Given the description of an element on the screen output the (x, y) to click on. 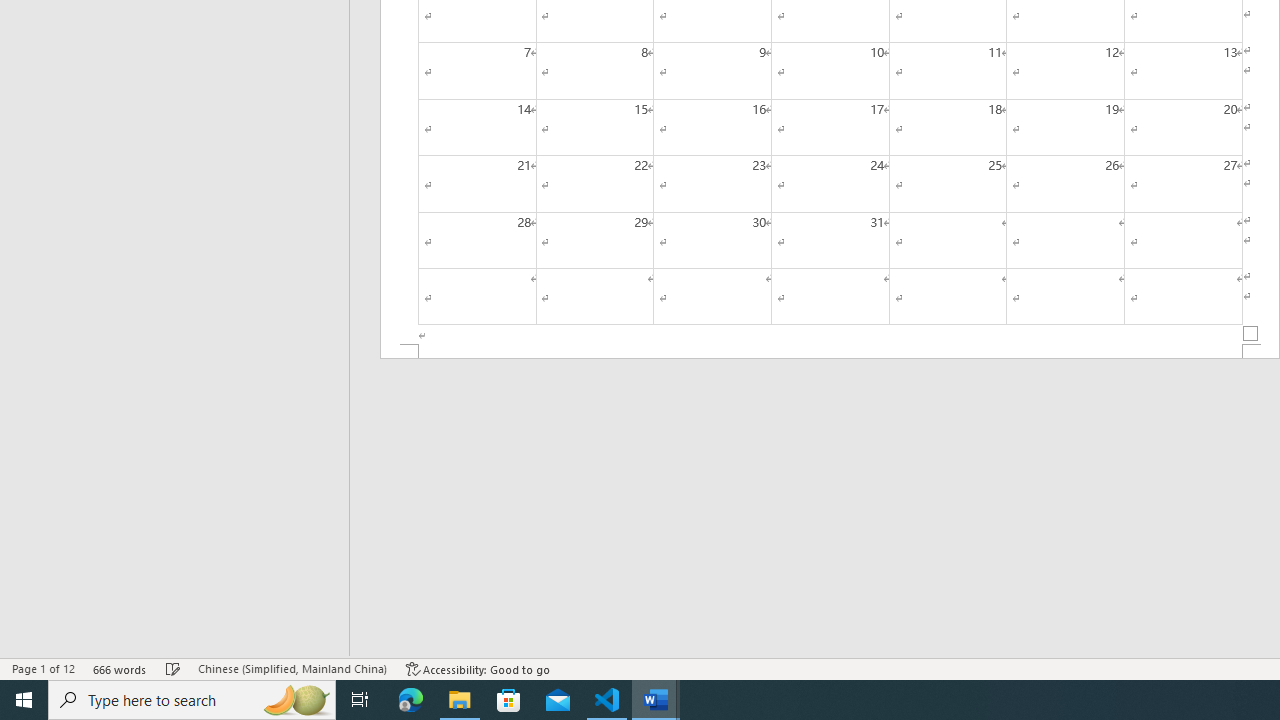
File Explorer - 1 running window (460, 699)
